Given the description of an element on the screen output the (x, y) to click on. 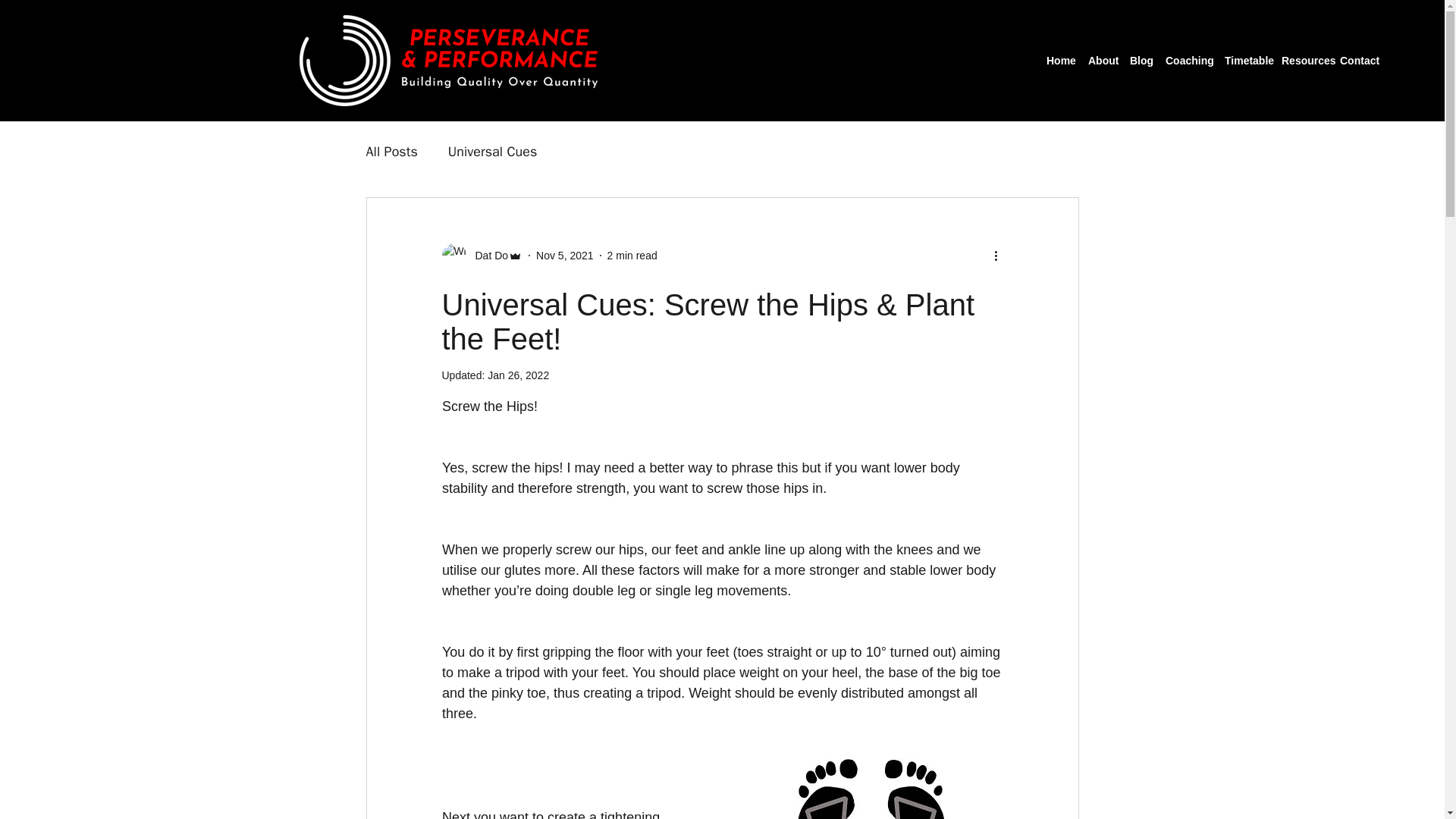
Coaching (1187, 60)
Dat Do (486, 254)
2 min read (632, 254)
Resources (1303, 60)
Home (1059, 60)
All Posts (390, 151)
Jan 26, 2022 (517, 375)
About (1101, 60)
Timetable (1245, 60)
Contact (1356, 60)
